Given the description of an element on the screen output the (x, y) to click on. 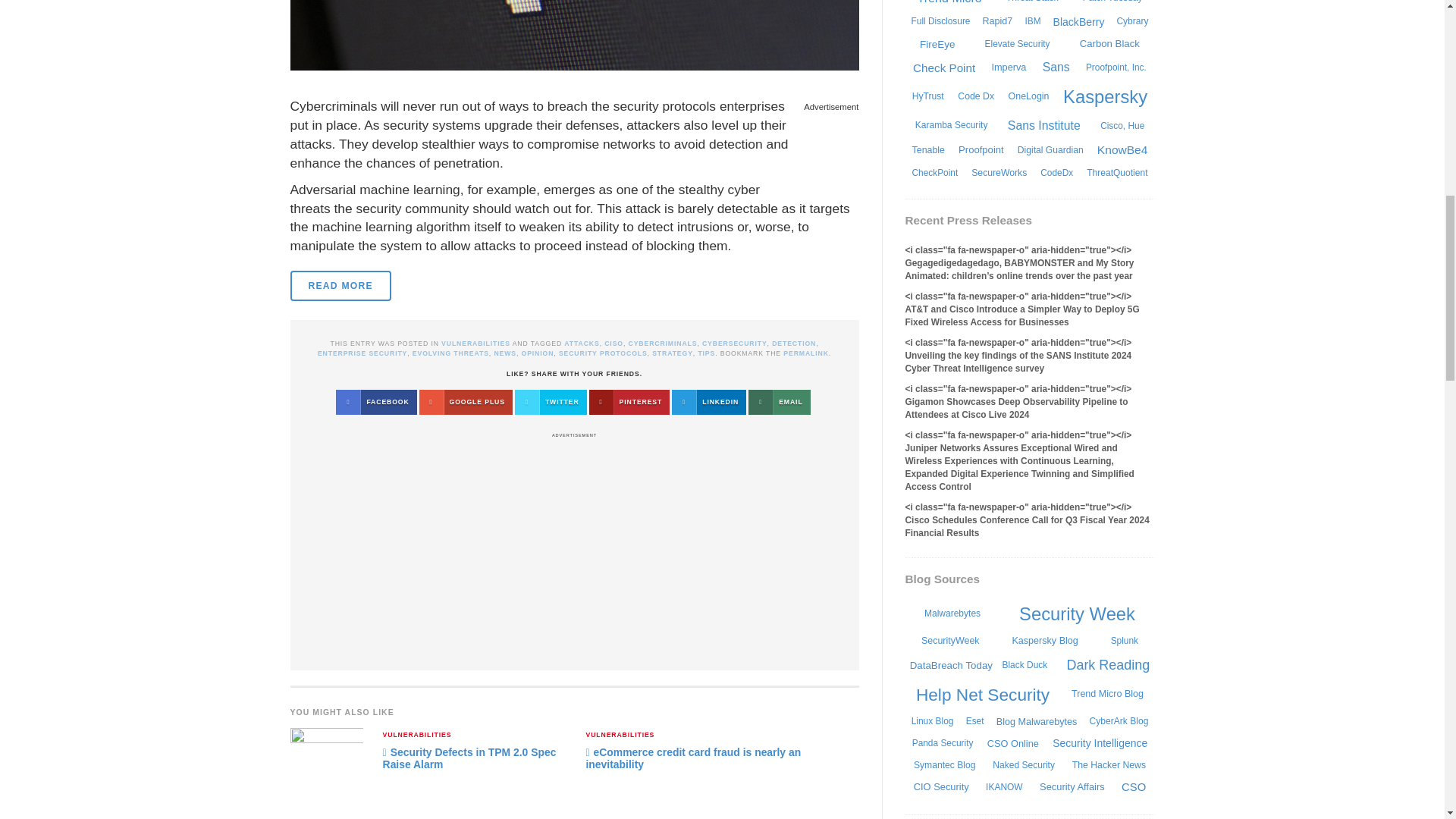
STRATEGY (672, 353)
CISO (613, 343)
OPINION (537, 353)
VULNERABILITIES (416, 735)
SECURITY PROTOCOLS (603, 353)
PERMALINK (805, 353)
GOOGLE PLUS (465, 401)
Security Defects in TPM 2.0 Spec Raise Alarm (469, 758)
TWITTER (550, 401)
DETECTION (793, 343)
LINKEDIN (708, 401)
PINTEREST (629, 401)
EMAIL (778, 401)
CYBERCRIMINALS (662, 343)
TIPS (705, 353)
